Given the description of an element on the screen output the (x, y) to click on. 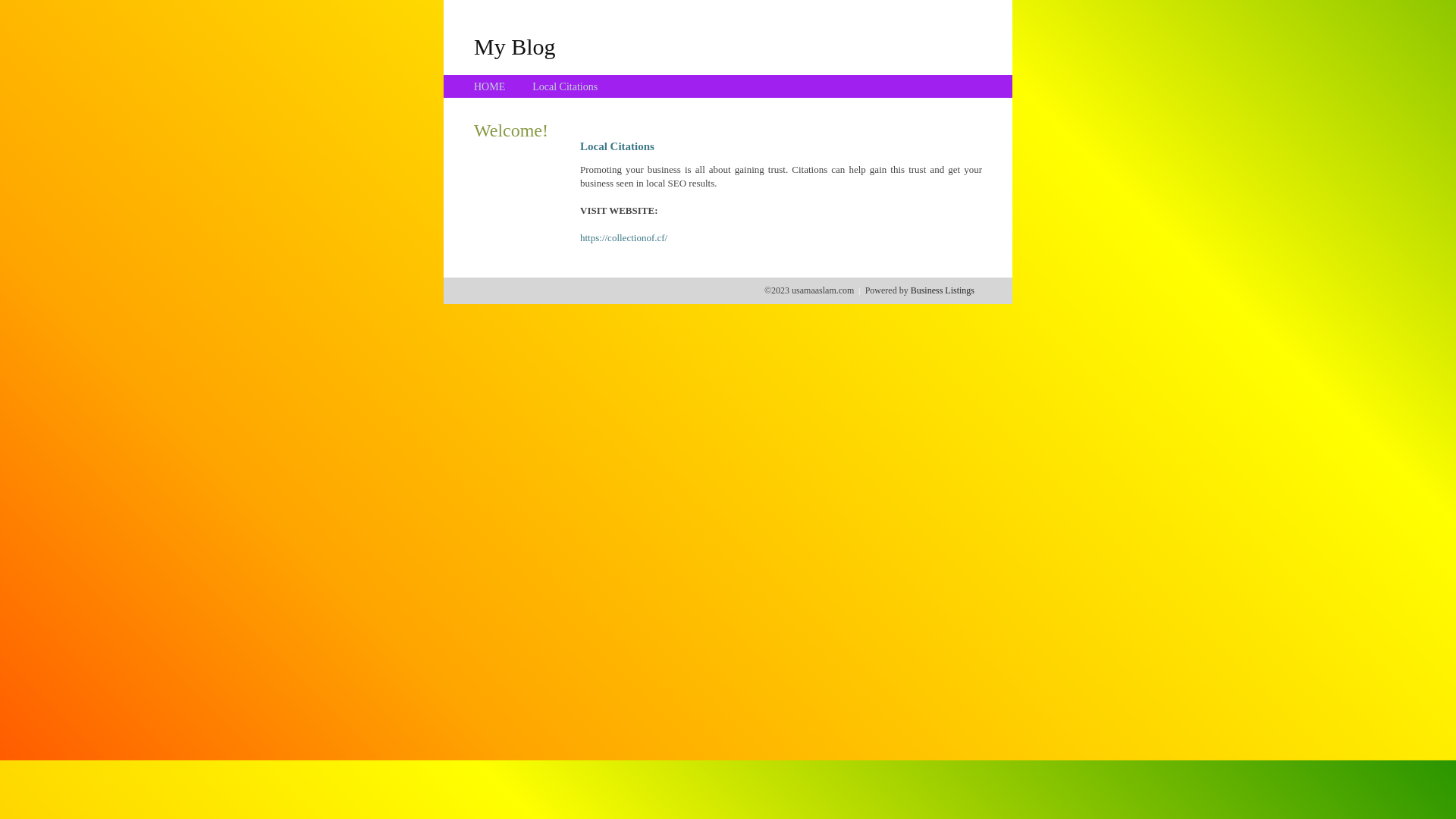
https://collectionof.cf/ Element type: text (623, 237)
Business Listings Element type: text (942, 290)
Local Citations Element type: text (564, 86)
My Blog Element type: text (514, 46)
HOME Element type: text (489, 86)
